Given the description of an element on the screen output the (x, y) to click on. 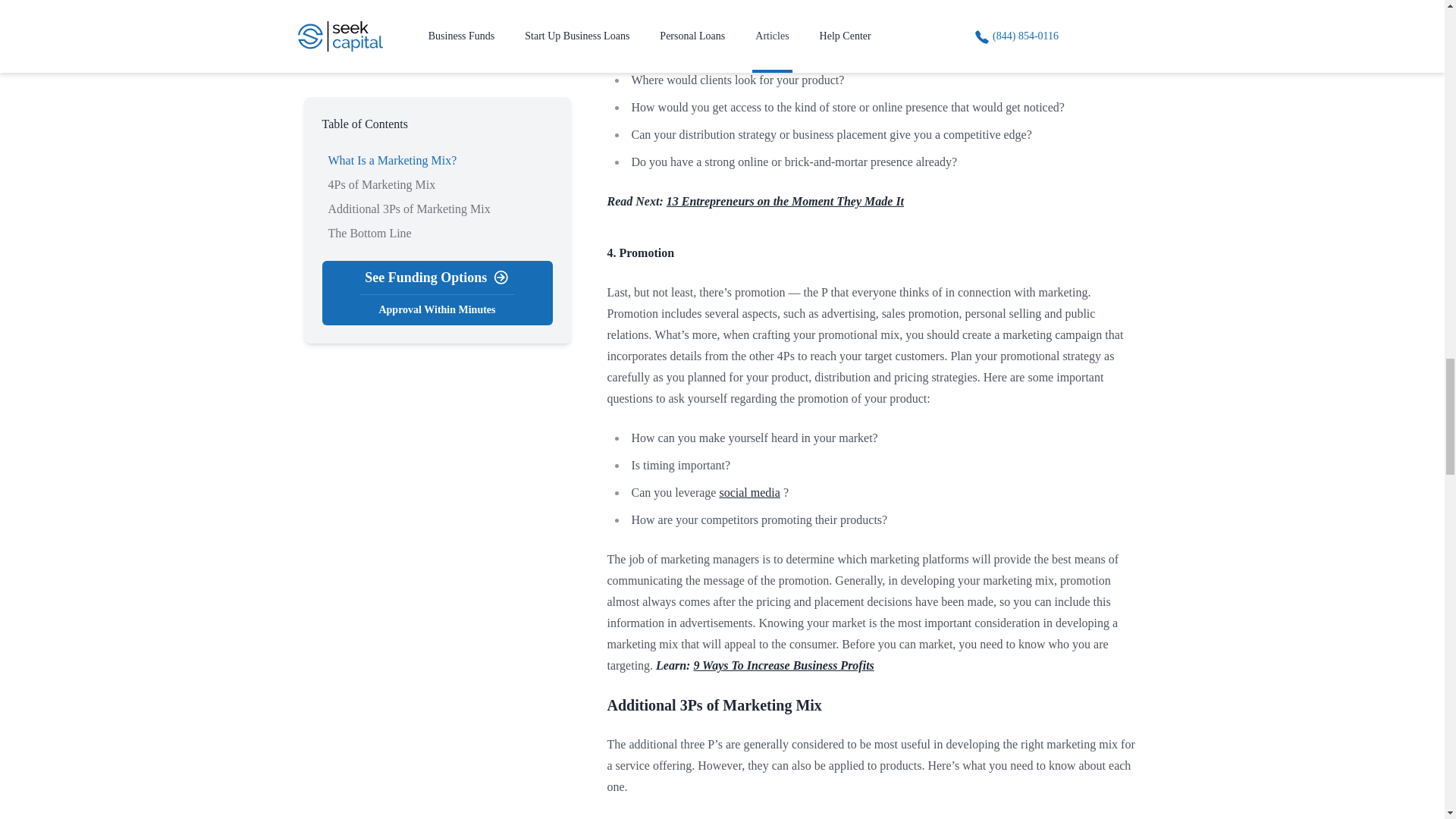
social media (748, 492)
Additional 3Ps of Marketing Mix (714, 704)
13 Entrepreneurs on the Moment They Made It (785, 201)
4. Promotion (640, 252)
9 Ways To Increase Business Profits (783, 665)
